Given the description of an element on the screen output the (x, y) to click on. 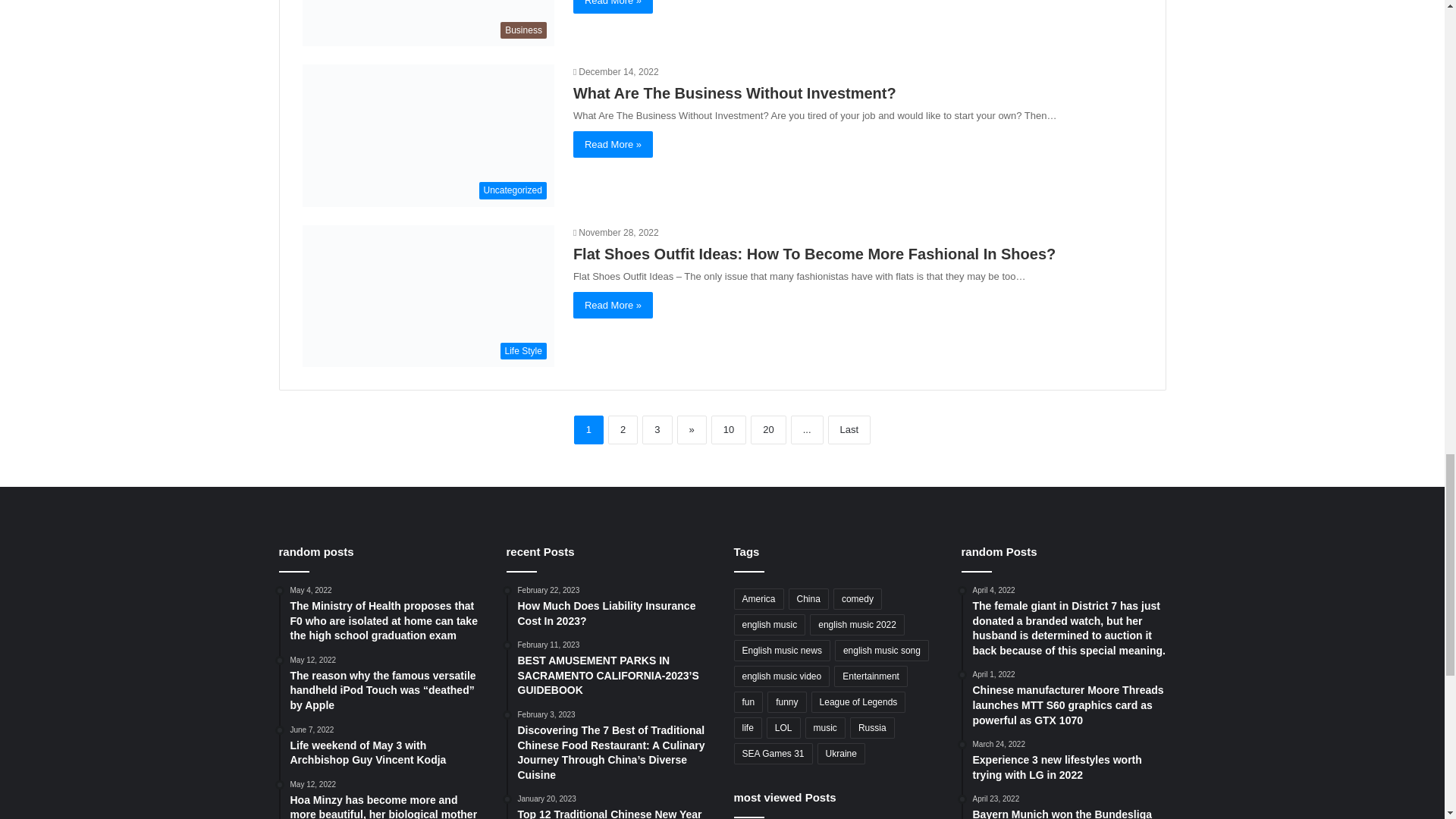
Uncategorized (427, 135)
Last (849, 429)
What Are The Business Without Investment? (734, 93)
3 (656, 429)
Business (427, 23)
2 (622, 429)
What Are The Business Without Investment? 30 (427, 135)
10 (728, 429)
